Given the description of an element on the screen output the (x, y) to click on. 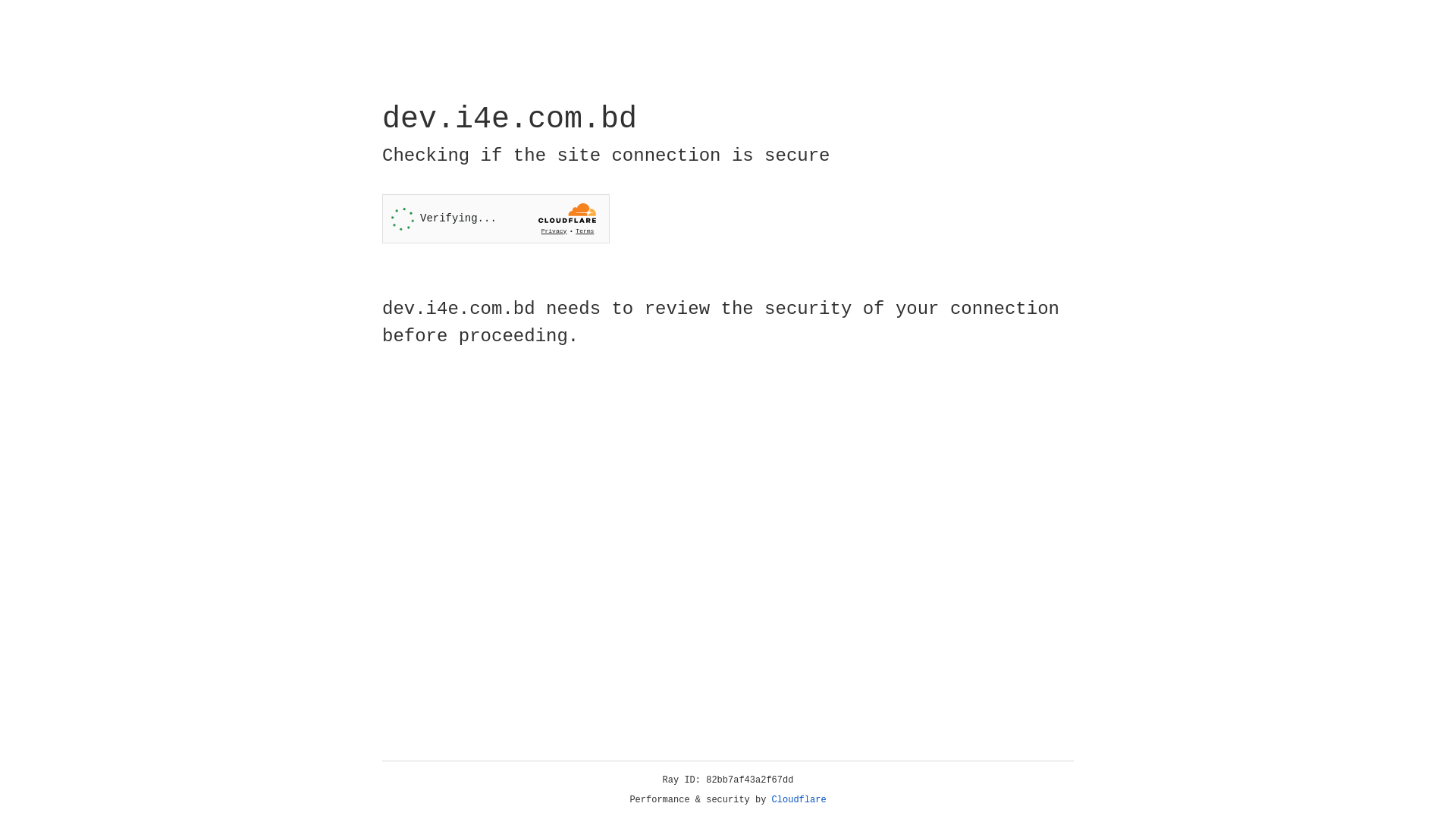
Widget containing a Cloudflare security challenge Element type: hover (495, 218)
Cloudflare Element type: text (798, 799)
